Given the description of an element on the screen output the (x, y) to click on. 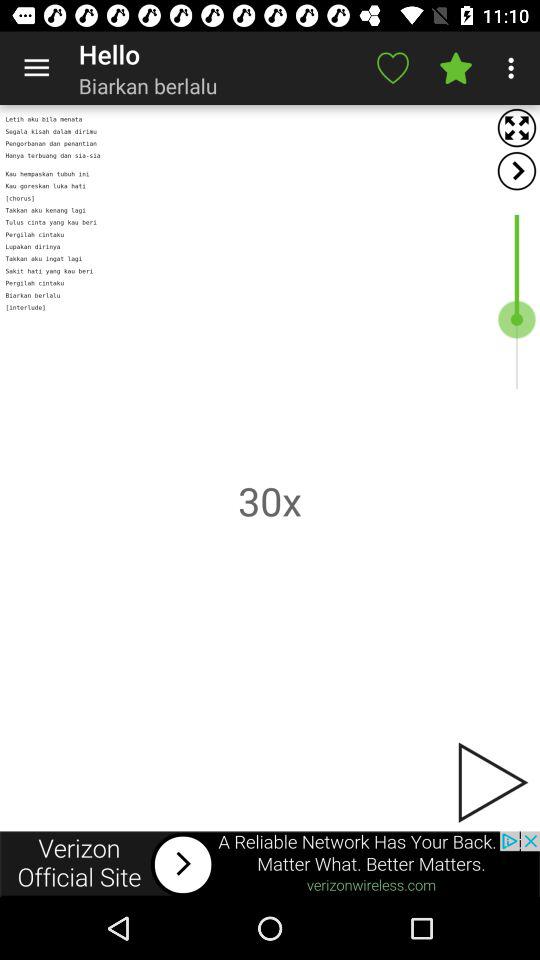
go to more option (514, 68)
